Given the description of an element on the screen output the (x, y) to click on. 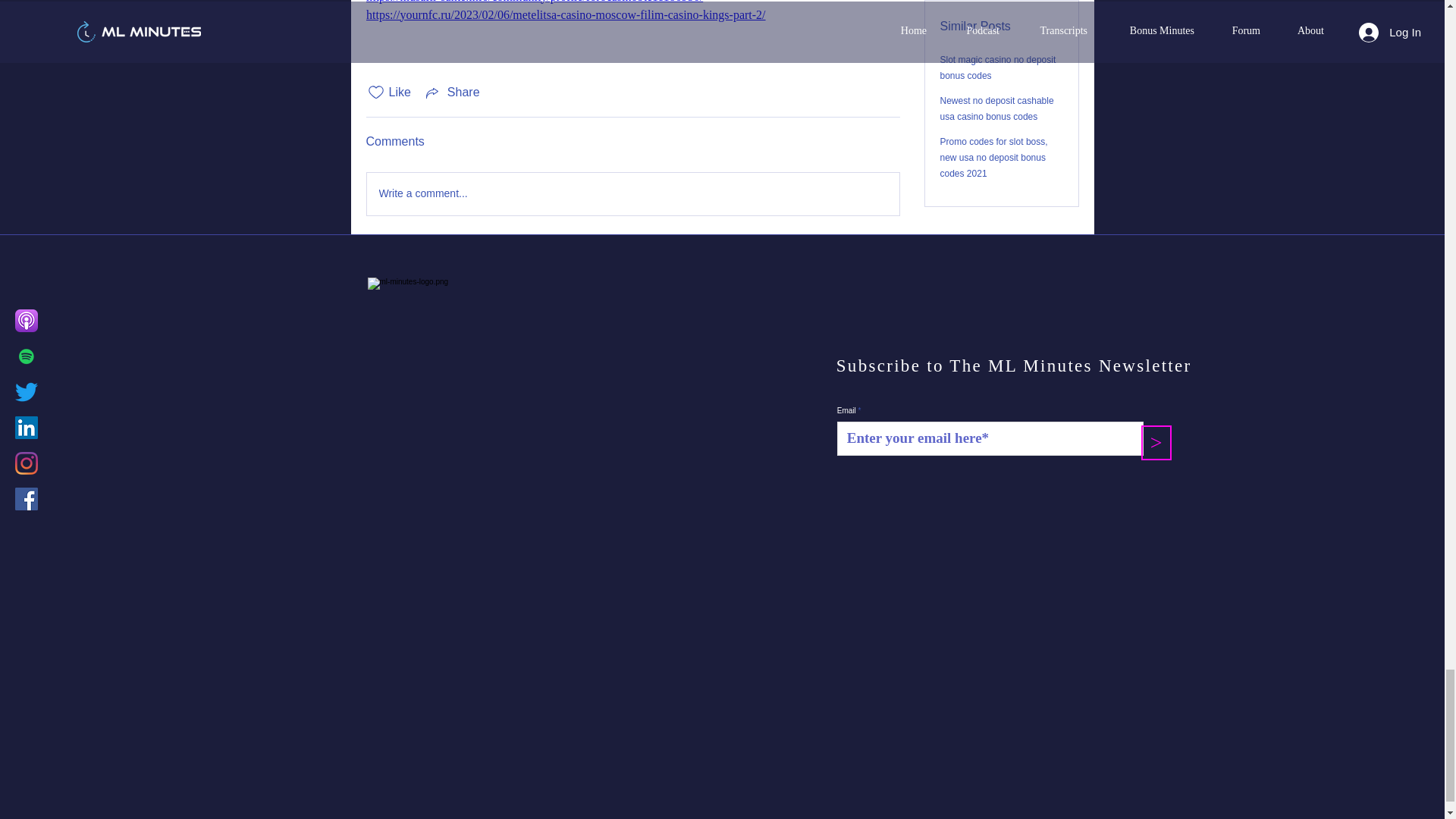
Share (451, 92)
Write a comment... (632, 193)
